Given the description of an element on the screen output the (x, y) to click on. 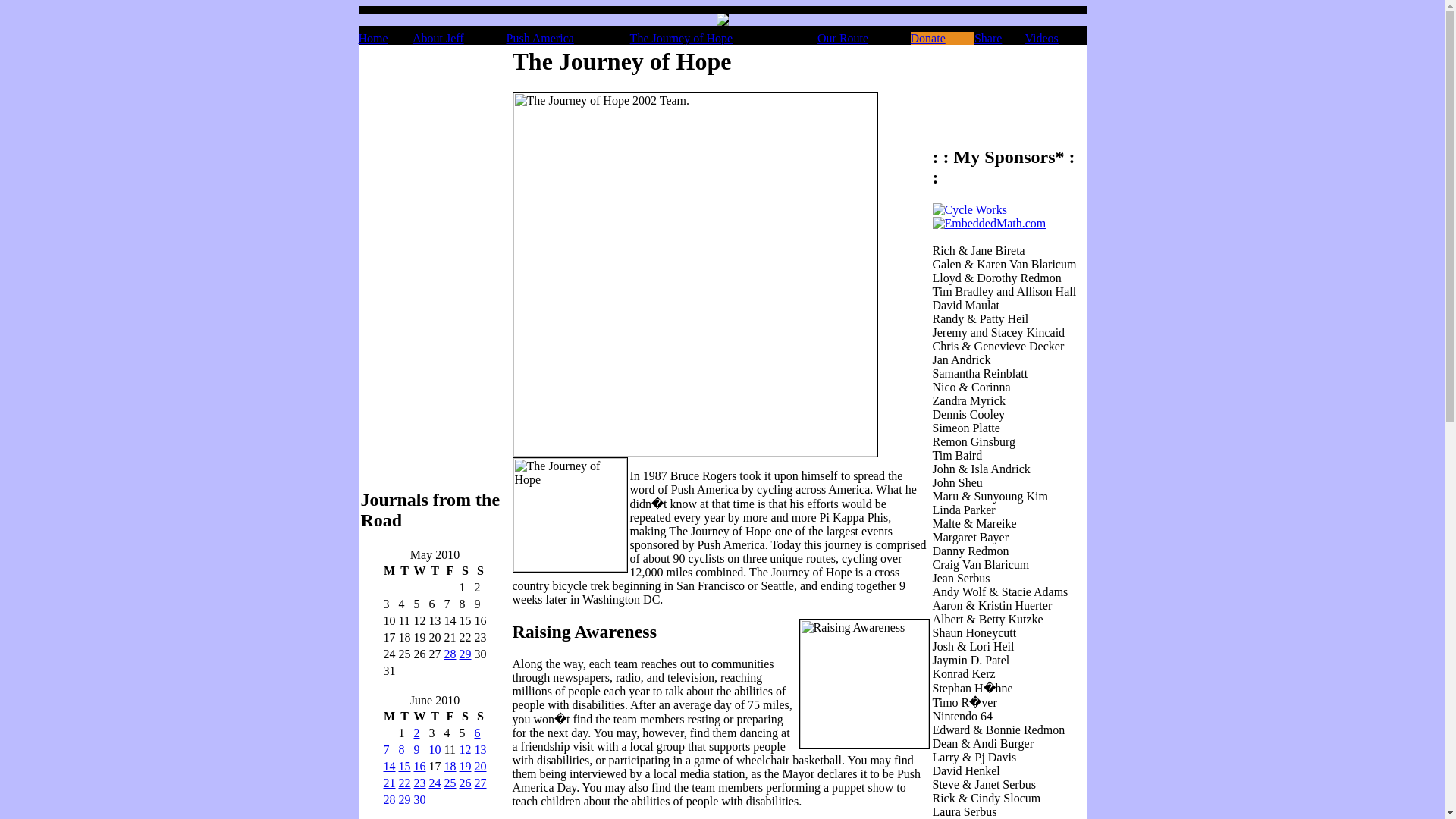
16 (419, 766)
27 (480, 782)
Friday (449, 570)
Friday (449, 716)
29 (465, 653)
Monday (388, 716)
Thursday (434, 716)
10 (435, 748)
Monday (388, 570)
26 (465, 782)
